Given the description of an element on the screen output the (x, y) to click on. 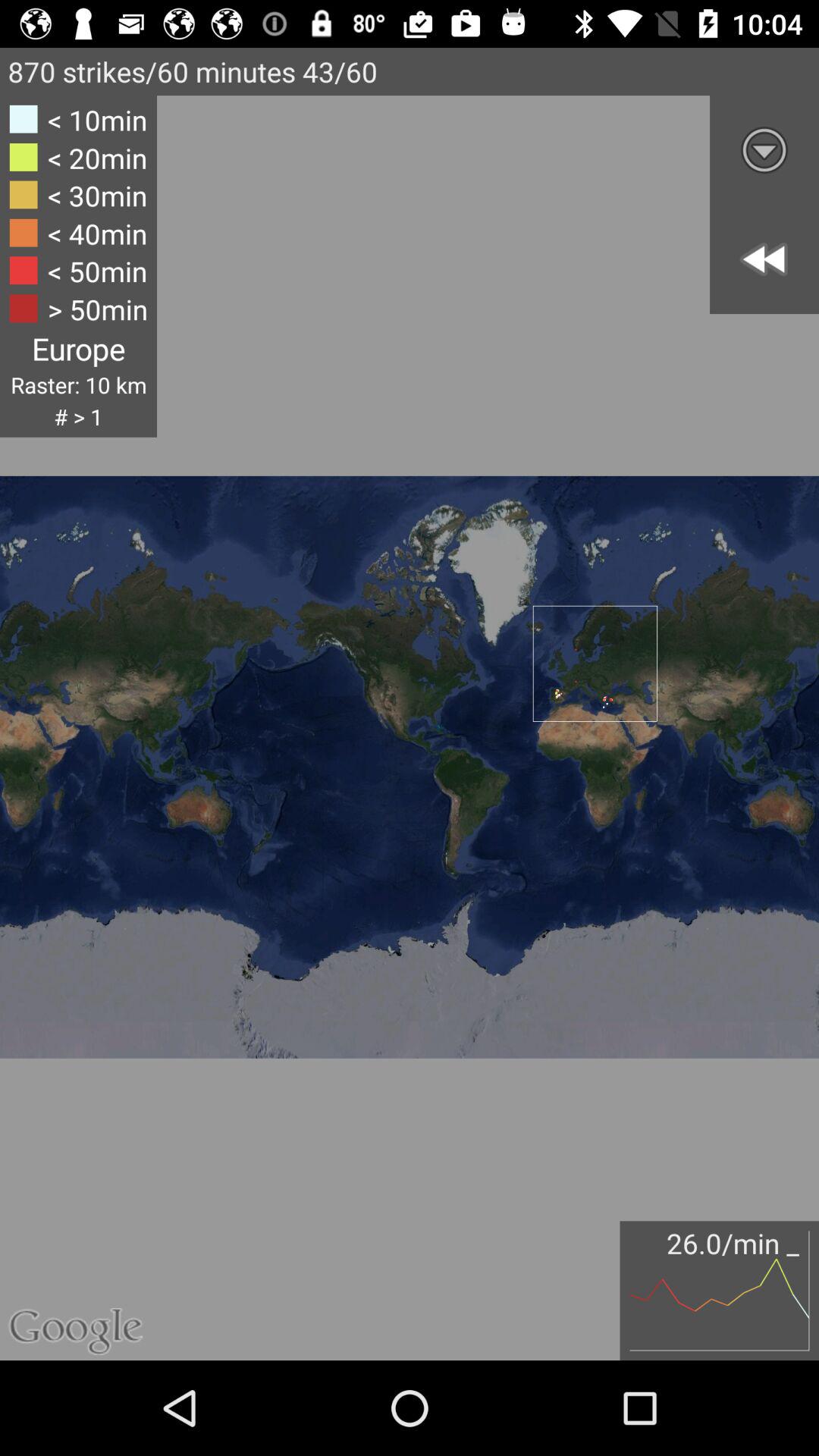
select item at the bottom right corner (719, 1290)
